Given the description of an element on the screen output the (x, y) to click on. 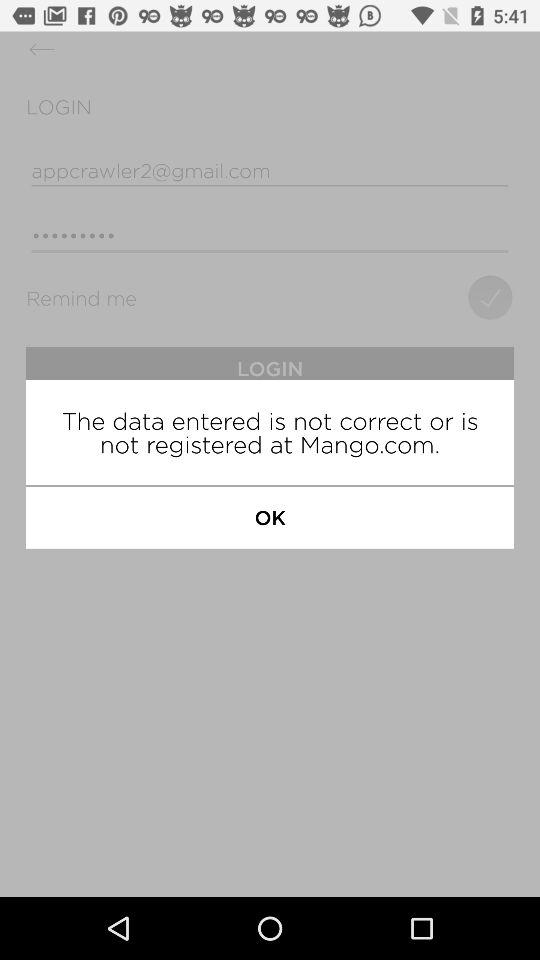
turn off the ok icon (269, 517)
